Given the description of an element on the screen output the (x, y) to click on. 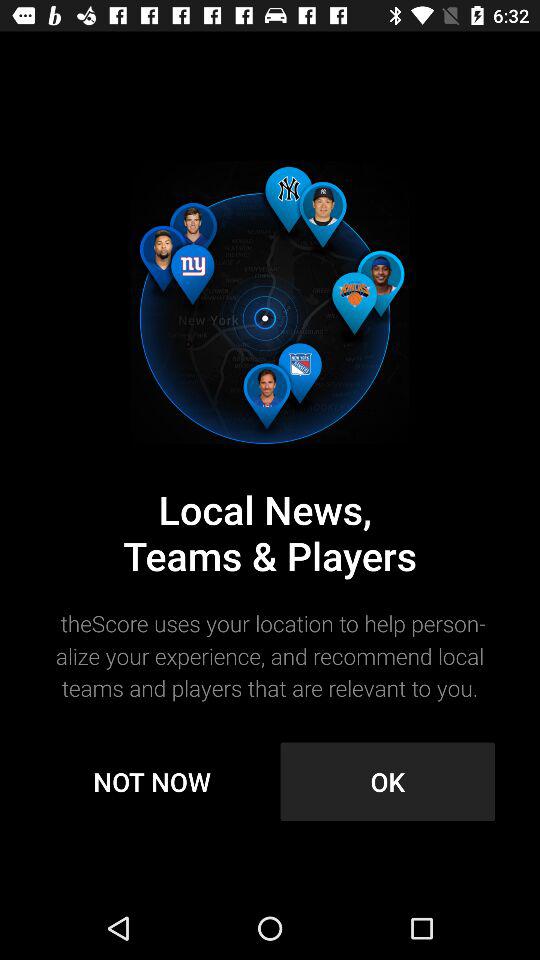
select the item below the thescore uses your icon (152, 781)
